Given the description of an element on the screen output the (x, y) to click on. 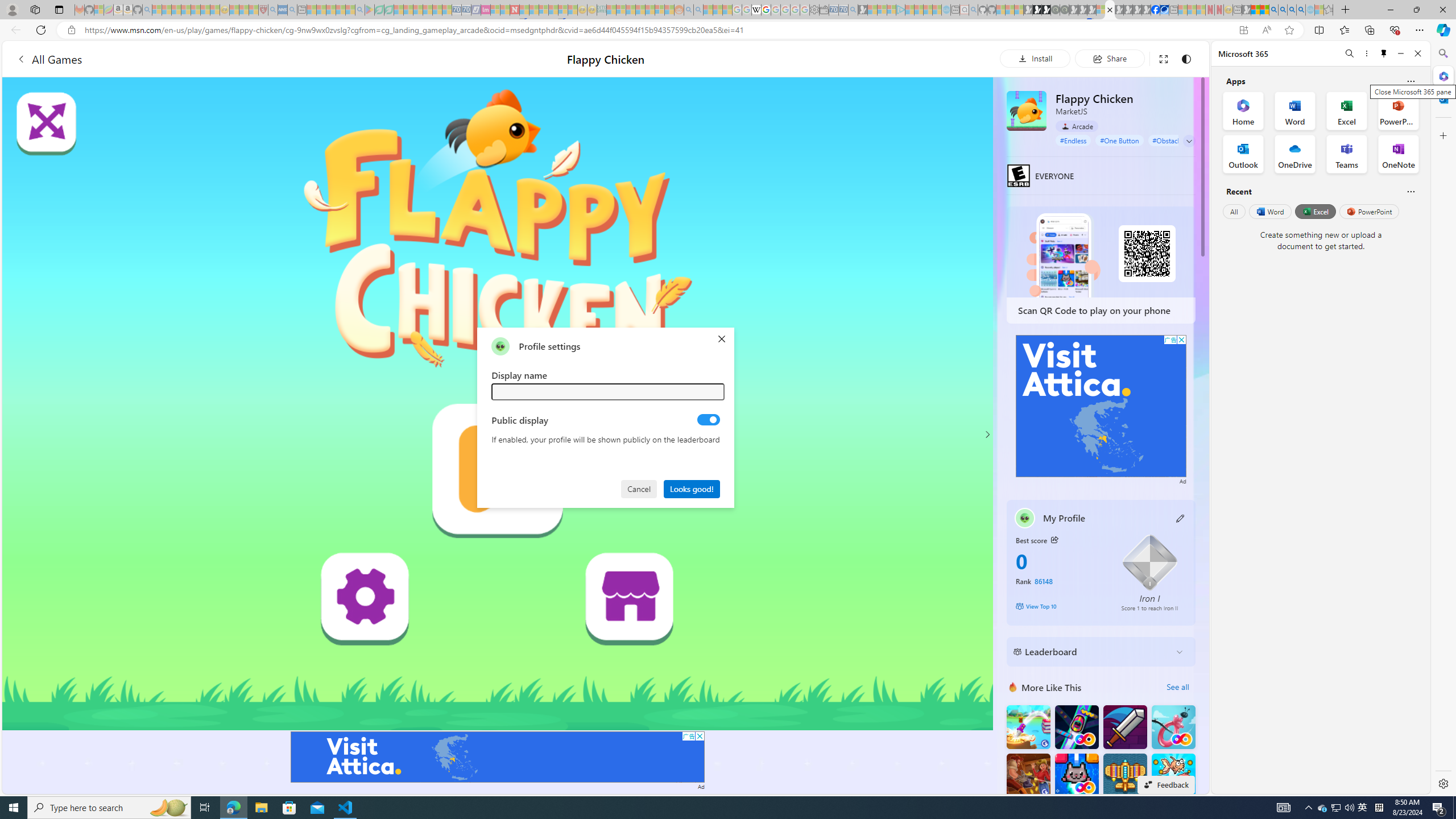
PowerPoint (1369, 210)
Atlantic Sky Hunter (1124, 775)
Dungeon Master Knight (1124, 726)
OneDrive Office App (1295, 154)
Bumper Car FRVR (1076, 726)
""'s avatar (500, 345)
#Obstacle Course (1178, 140)
Excel Office App (1346, 110)
See all (1177, 687)
